Given the description of an element on the screen output the (x, y) to click on. 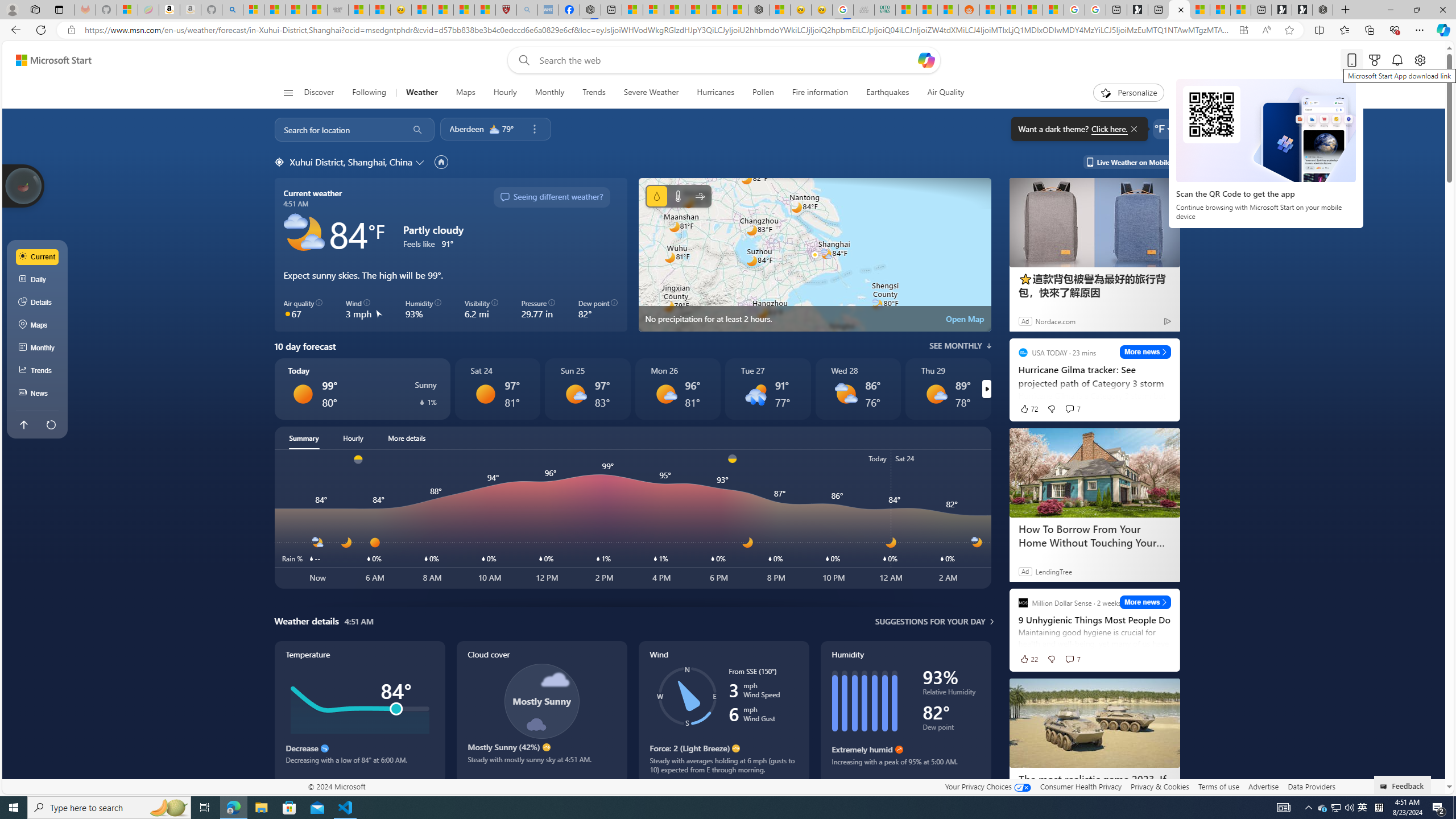
Trends (593, 92)
Humidity 93% (423, 309)
Pollen (763, 92)
Hurricanes (716, 92)
Trends (37, 370)
Privacy & Cookies (1160, 785)
Consumer Health Privacy (1080, 785)
Nordace.com (1055, 320)
